Given the description of an element on the screen output the (x, y) to click on. 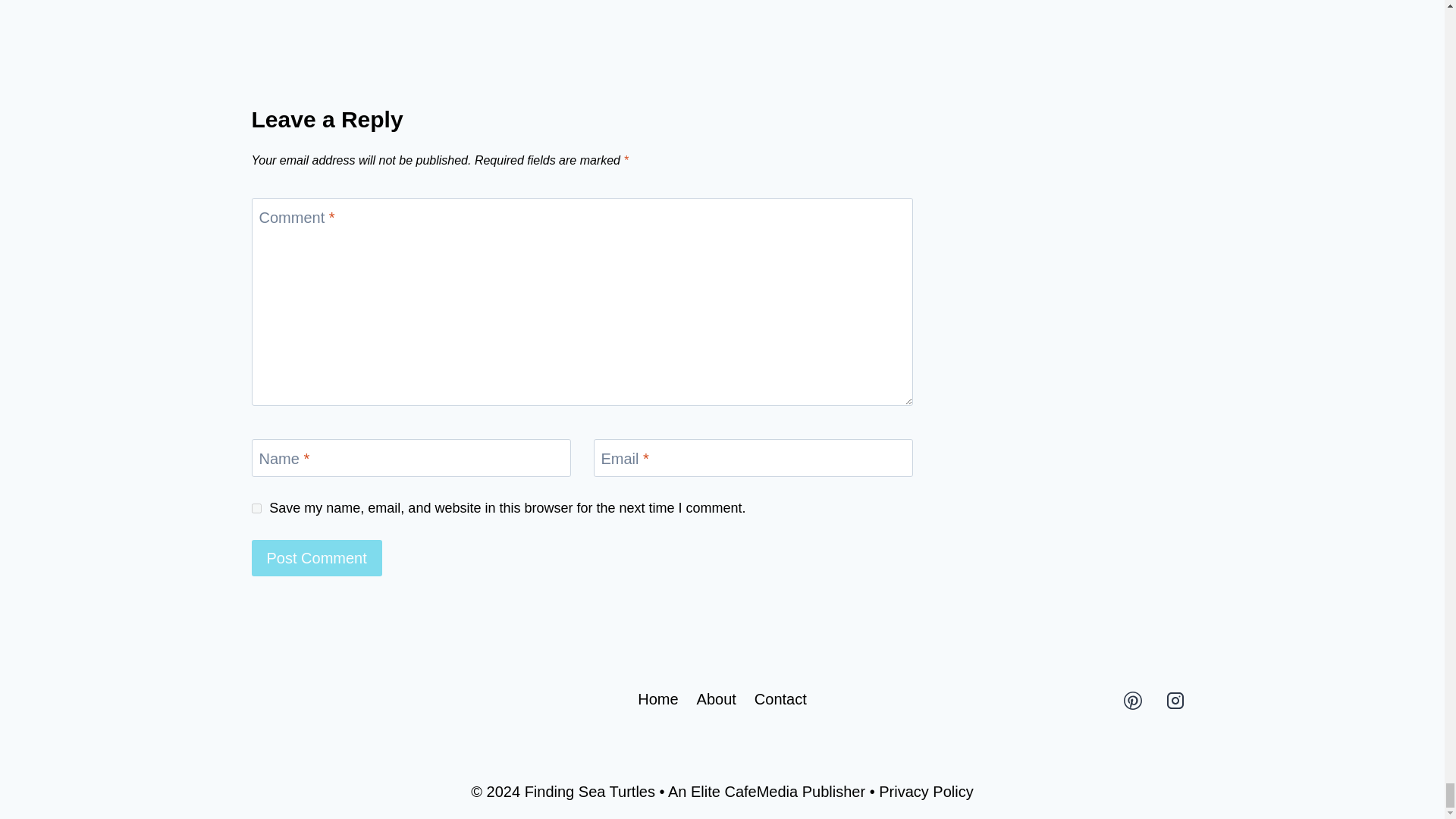
Post Comment (316, 557)
yes (256, 508)
